Given the description of an element on the screen output the (x, y) to click on. 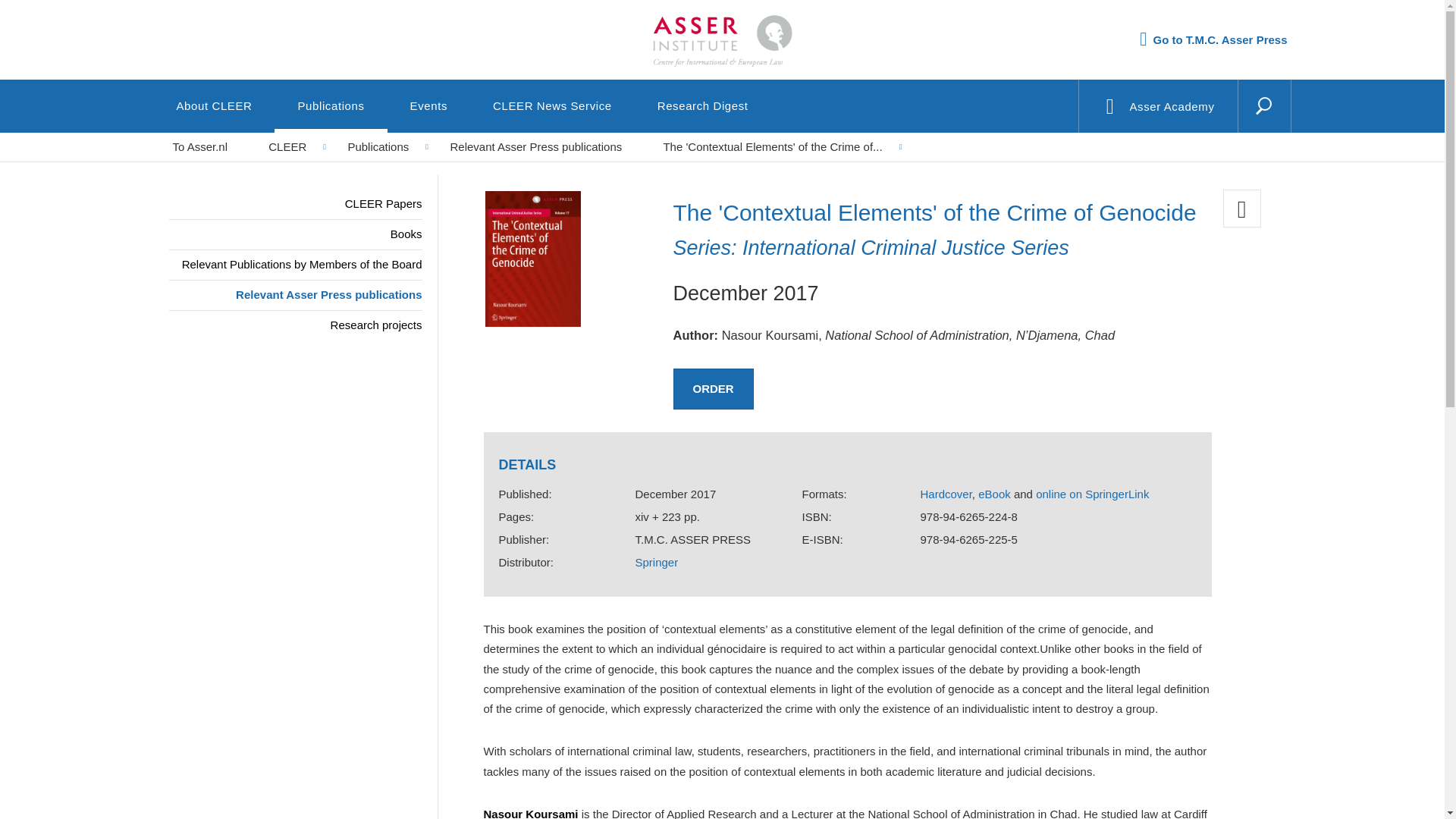
Go to T.M.C. Asser Press (1213, 38)
Go back to T.M.C. Asser Instituut Homepage (721, 27)
Search (1227, 125)
About CLEER (213, 105)
Search (1227, 125)
